Given the description of an element on the screen output the (x, y) to click on. 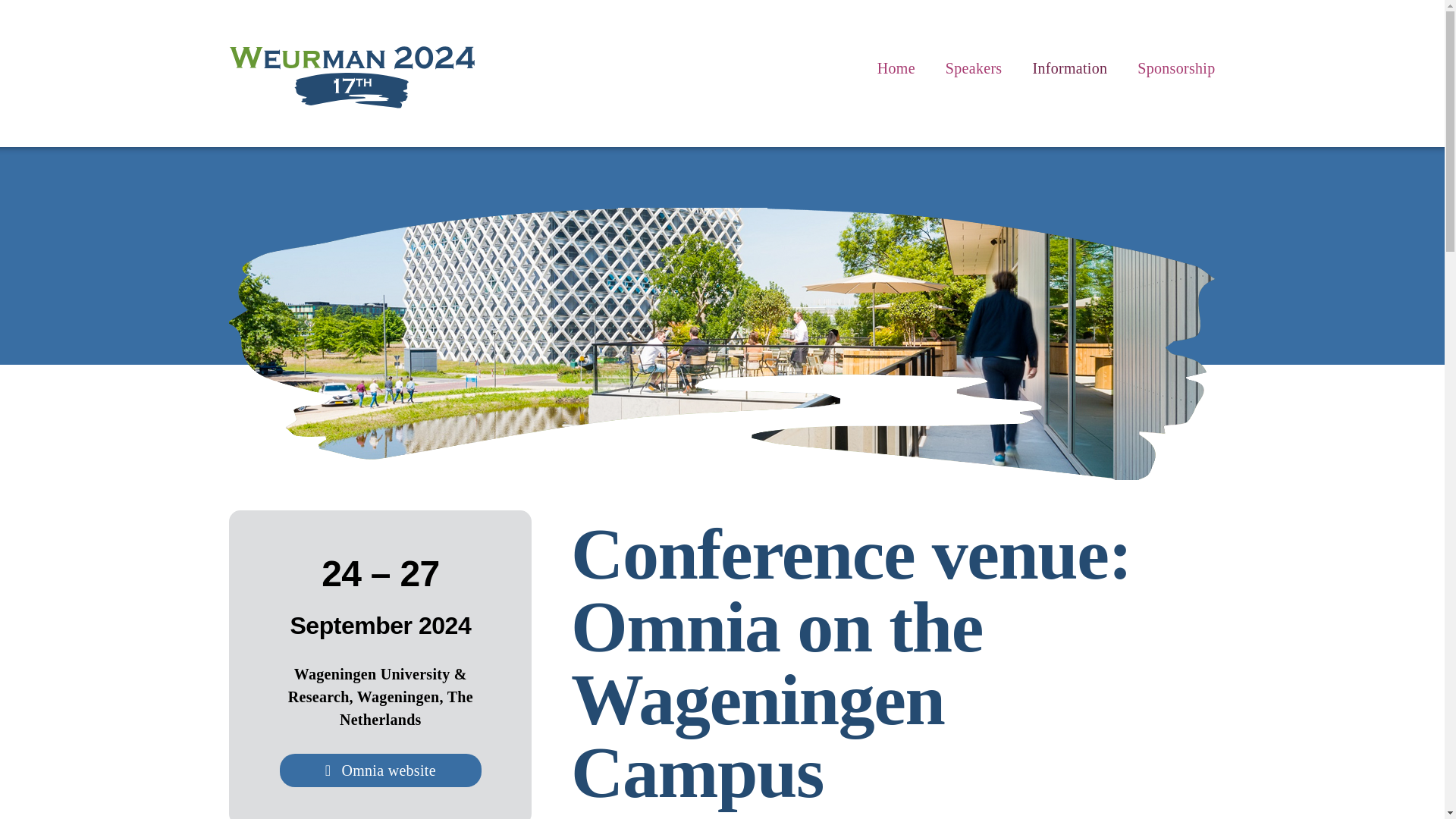
Omnia website (380, 770)
